Given the description of an element on the screen output the (x, y) to click on. 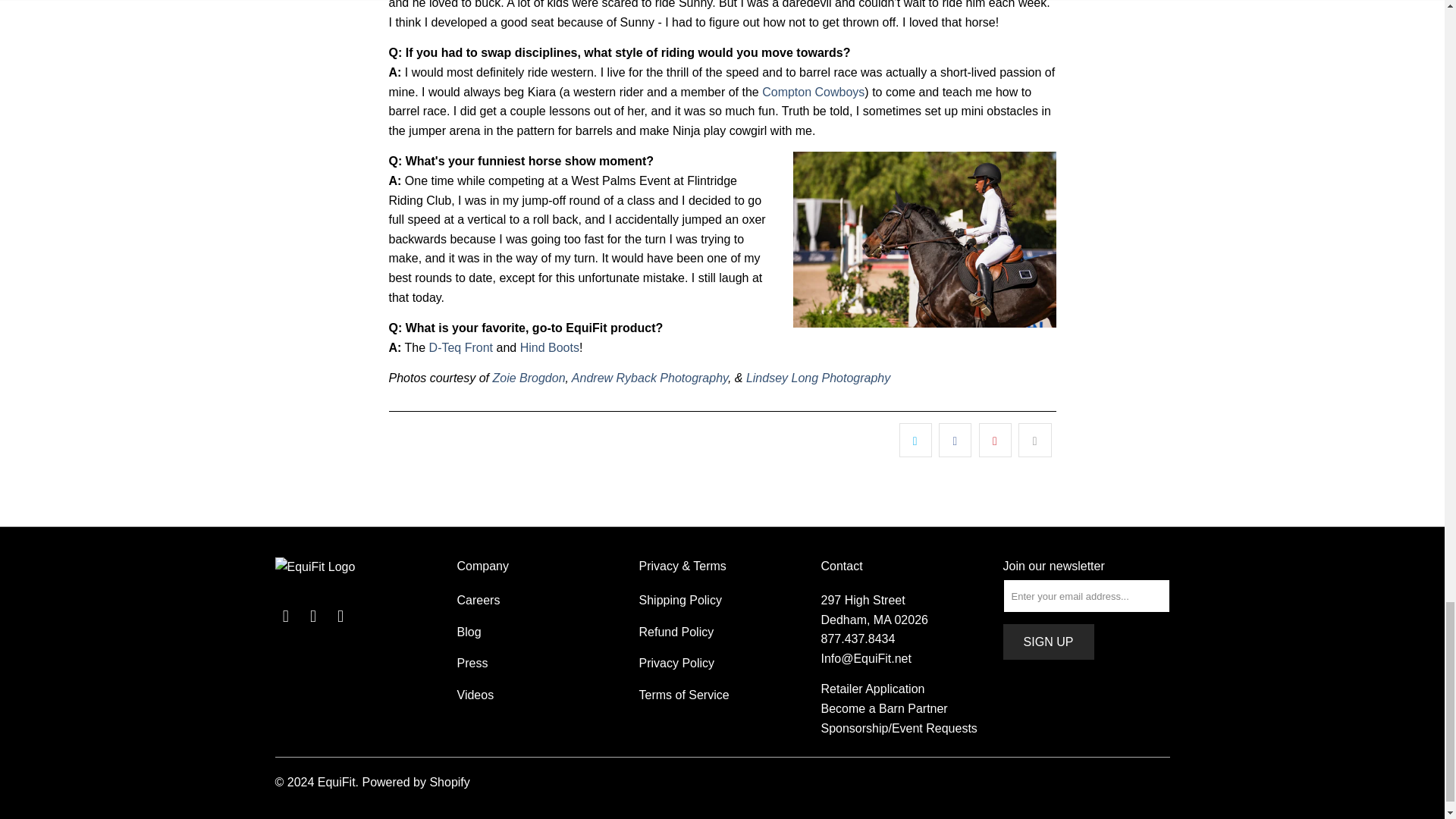
EquiFit on Twitter (286, 616)
Share this on Pinterest (994, 440)
Email this to a friend (1034, 440)
EquiFit on Facebook (313, 616)
Sign Up (1048, 642)
Share this on Twitter (915, 440)
EquiFit on Instagram (341, 616)
Share this on Facebook (955, 440)
